Given the description of an element on the screen output the (x, y) to click on. 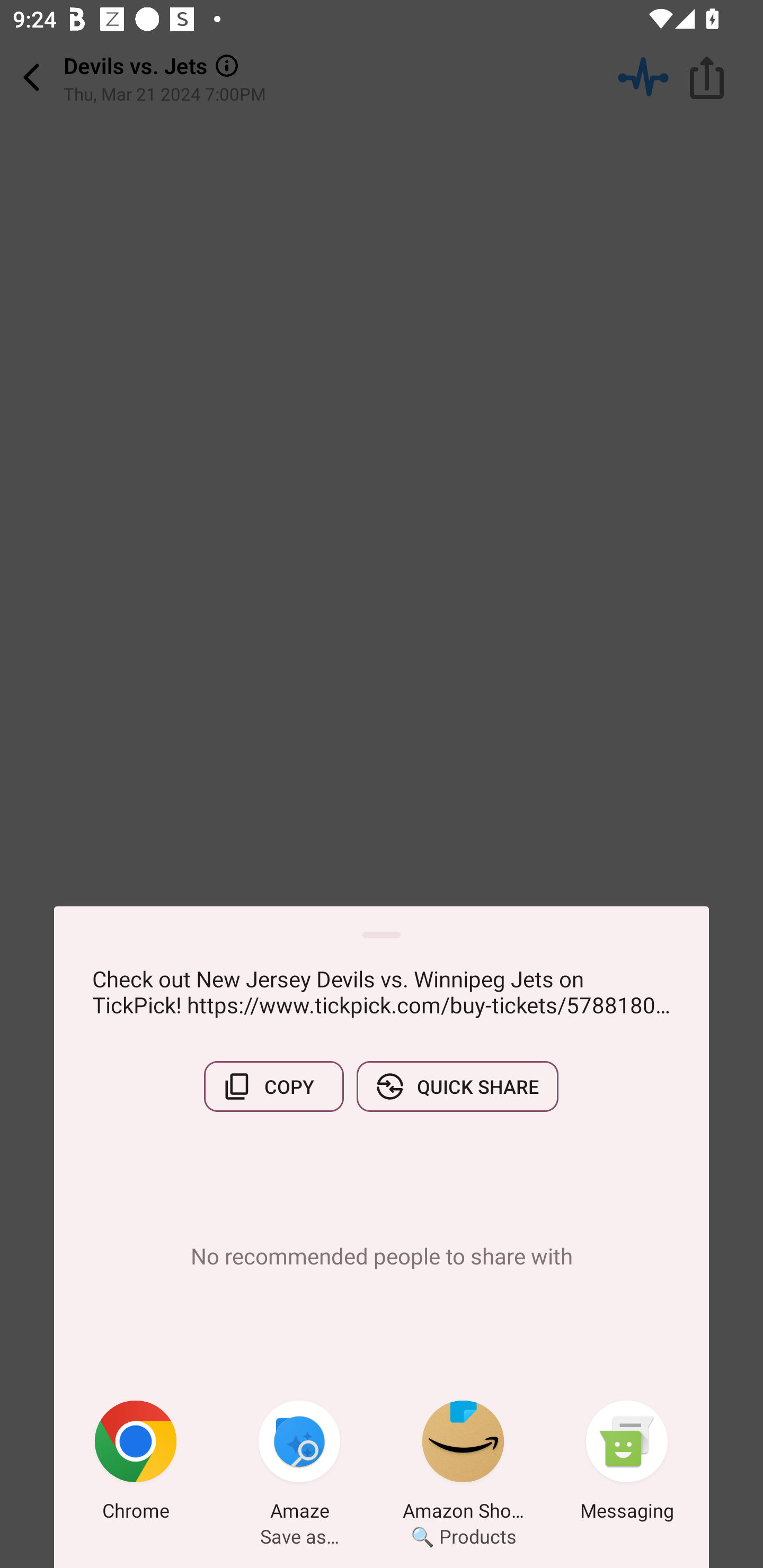
COPY (273, 1086)
QUICK SHARE (457, 1086)
Chrome (135, 1463)
Amaze Save as… (299, 1463)
Amazon Shopping 🔍 Products (463, 1463)
Messaging (626, 1463)
